Given the description of an element on the screen output the (x, y) to click on. 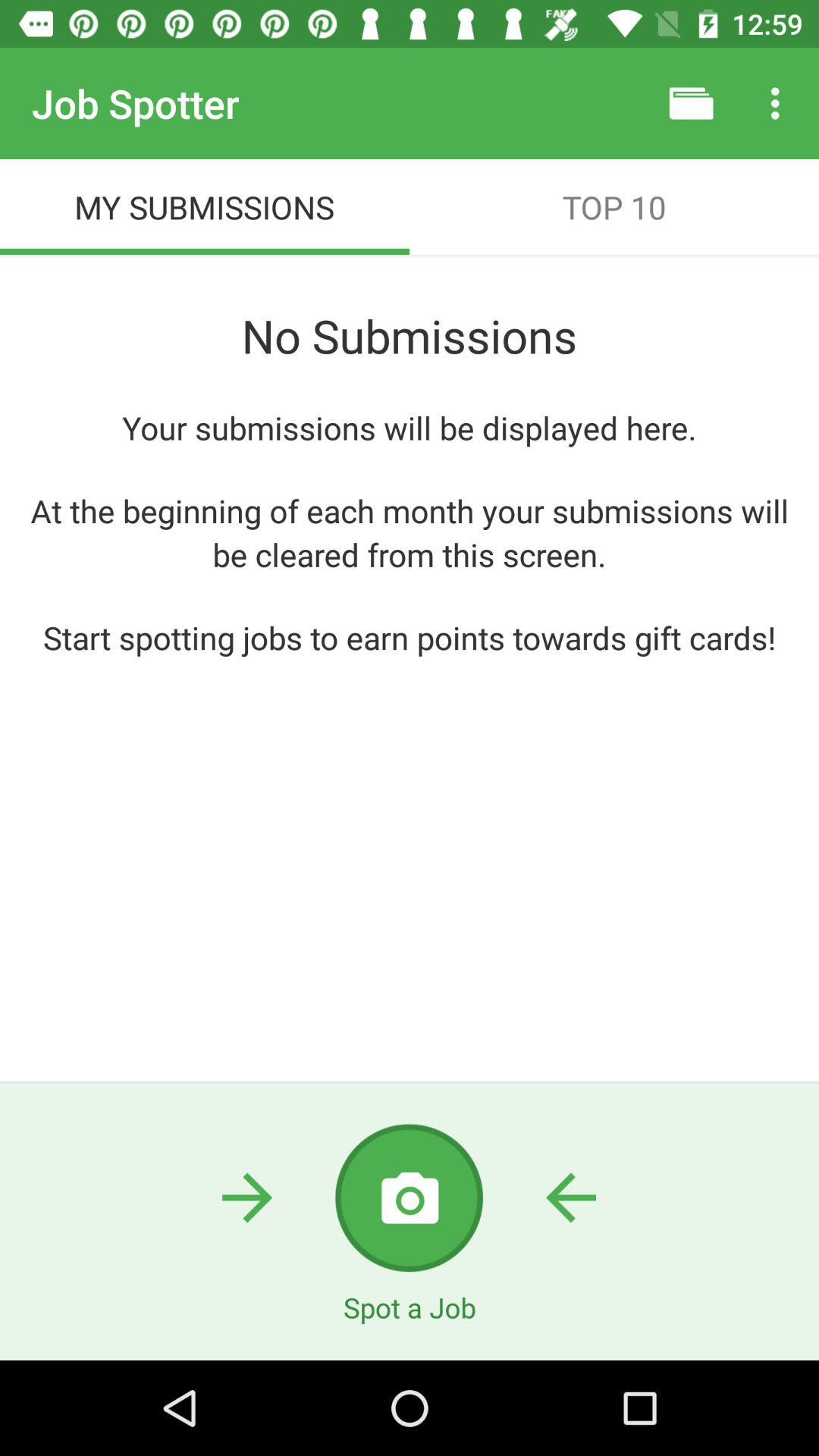
tap the item above the top 10 icon (691, 103)
